Given the description of an element on the screen output the (x, y) to click on. 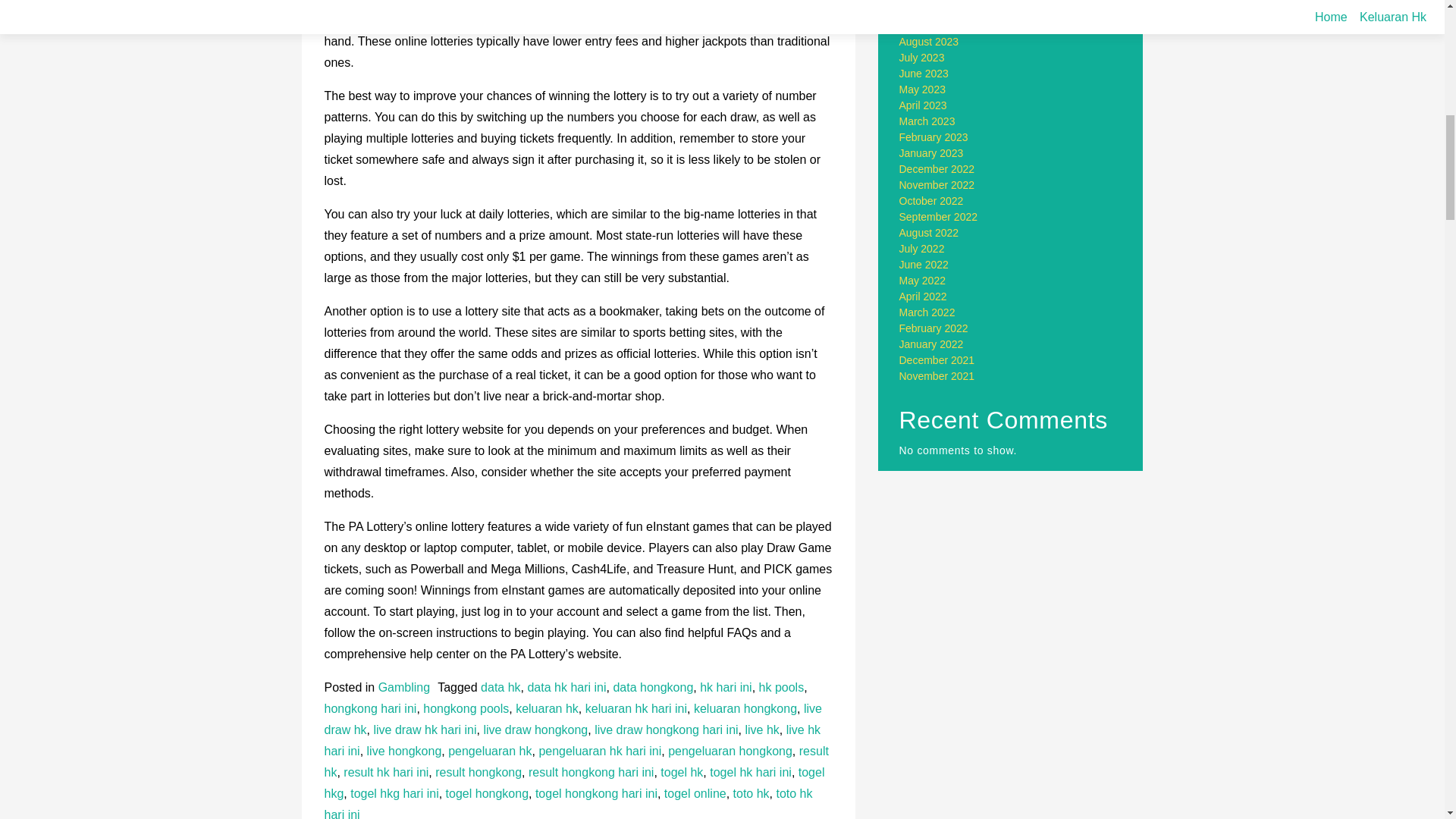
togel hk hari ini (751, 771)
live draw hongkong hari ini (666, 729)
result hongkong hari ini (590, 771)
data hk hari ini (566, 686)
togel hk (682, 771)
result hk (576, 761)
data hongkong (652, 686)
hk pools (781, 686)
togel online (694, 793)
keluaran hongkong (745, 707)
data hk (499, 686)
hk hari ini (725, 686)
live hk hari ini (572, 740)
keluaran hk (546, 707)
togel hkg (574, 782)
